Given the description of an element on the screen output the (x, y) to click on. 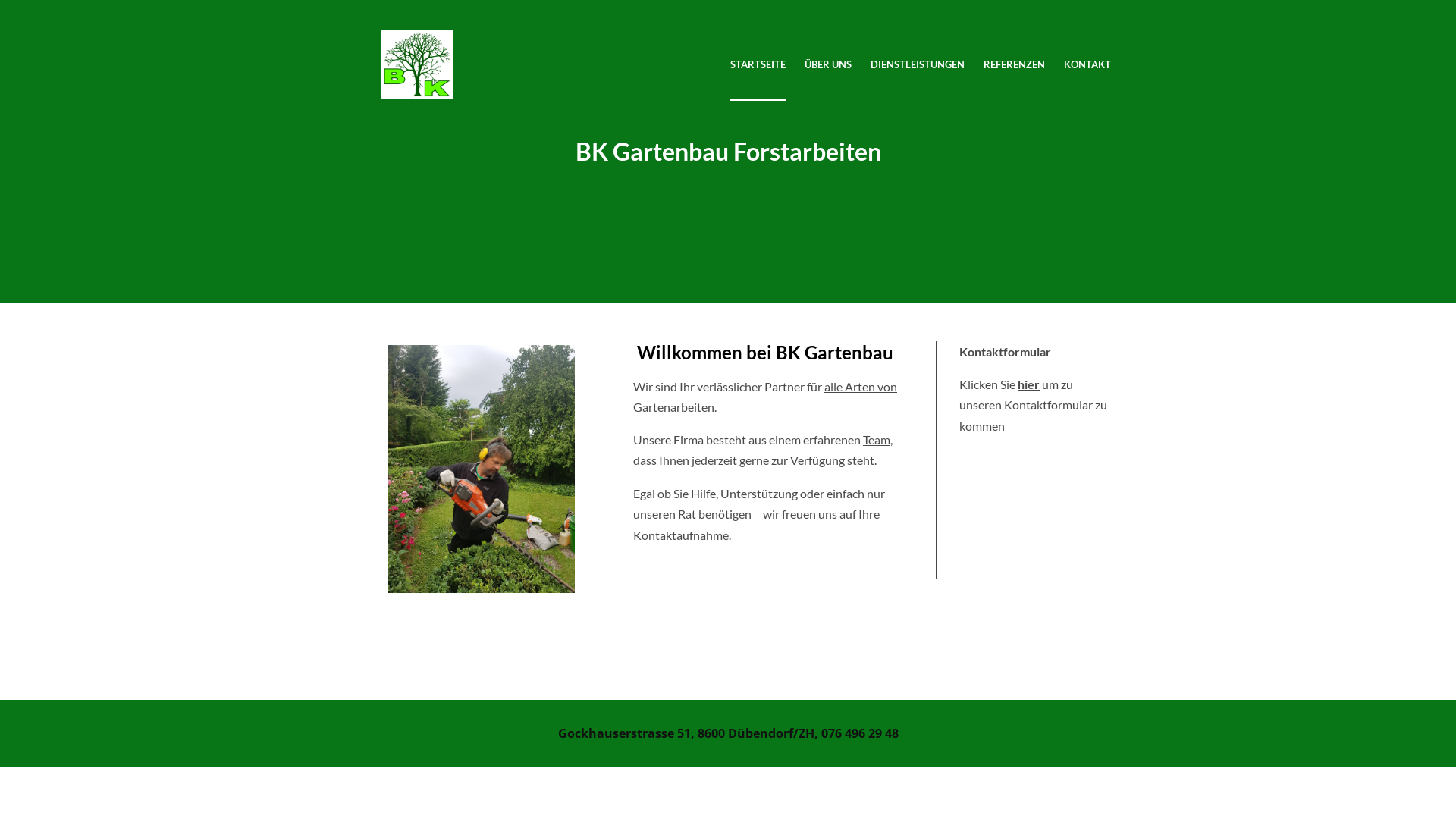
DIENSTLEISTUNGEN Element type: text (917, 65)
Team Element type: text (876, 439)
REFERENZEN Element type: text (1013, 65)
KONTAKT Element type: text (1086, 65)
alle Arten von G Element type: text (765, 396)
hier Element type: text (1028, 383)
STARTSEITE Element type: text (757, 65)
  Element type: text (416, 40)
